Given the description of an element on the screen output the (x, y) to click on. 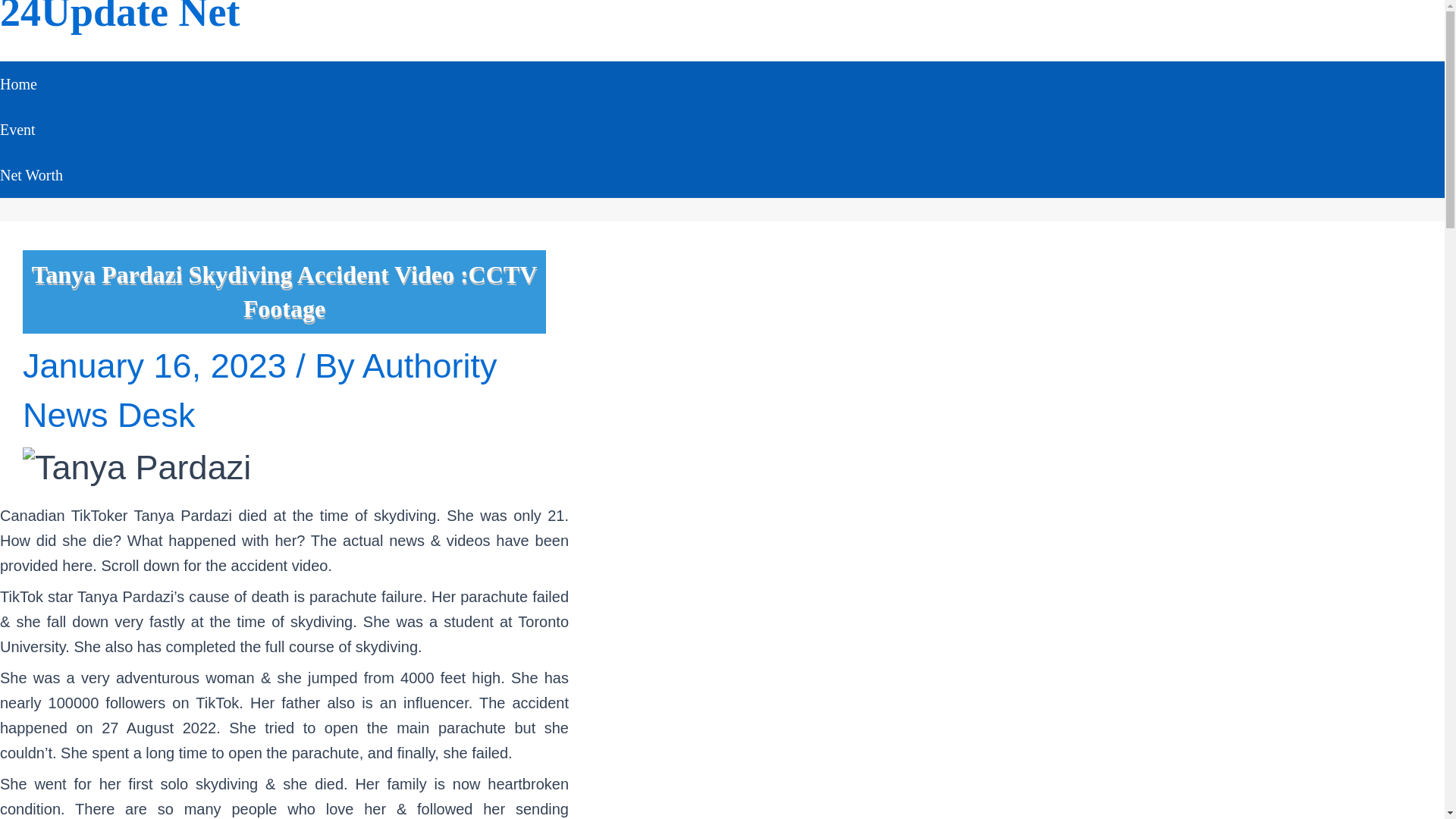
Net Worth (31, 175)
View all posts by Authority News Desk (259, 390)
Event (31, 129)
Home (31, 84)
Authority News Desk (259, 390)
24Update Net (120, 17)
